Given the description of an element on the screen output the (x, y) to click on. 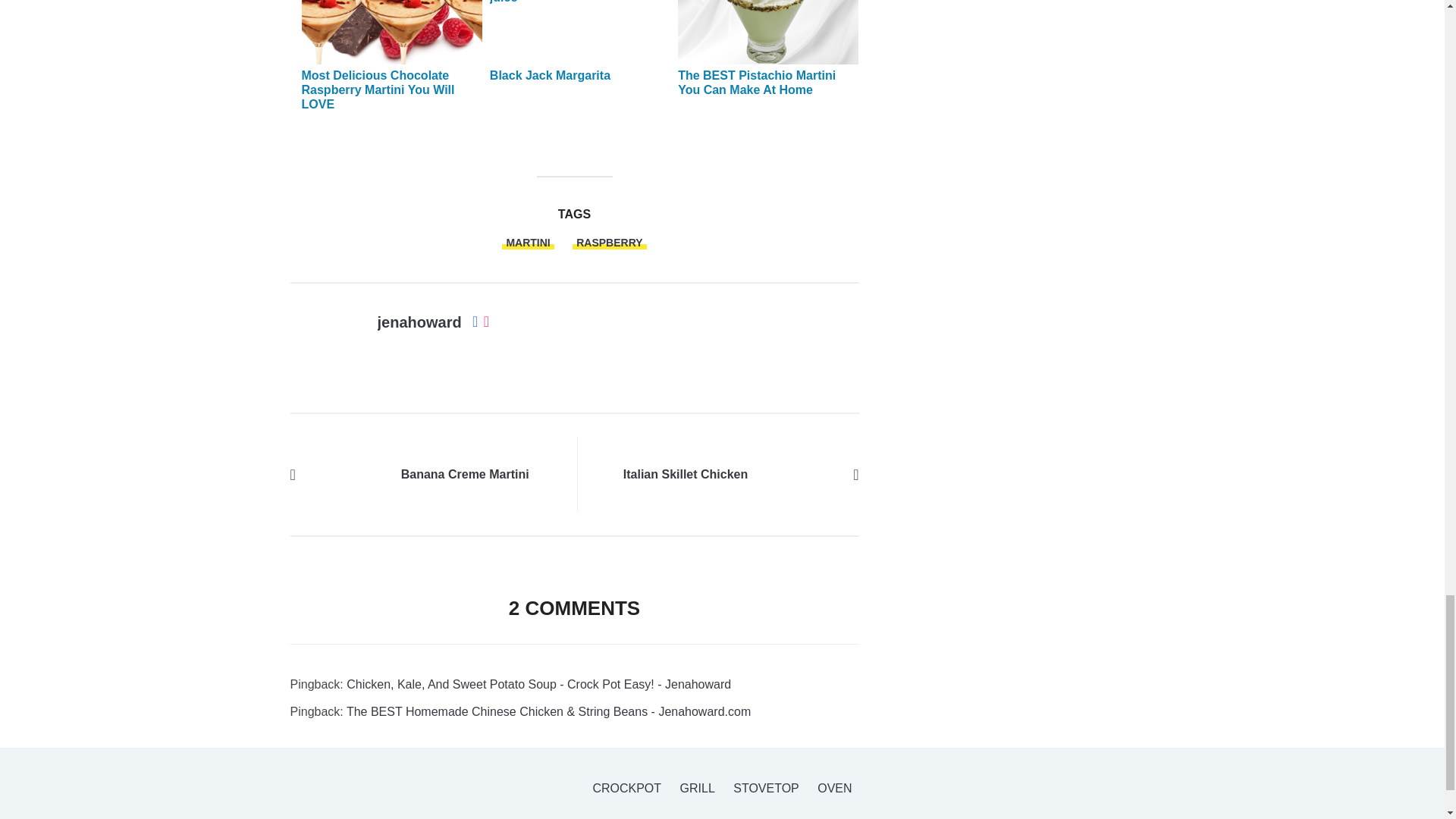
Banana Creme Martini (347, 473)
Italian Skillet Chicken (800, 473)
Posts by jenahoward (419, 321)
Italian Skillet Chicken (685, 475)
Banana Creme Martini (465, 475)
